Given the description of an element on the screen output the (x, y) to click on. 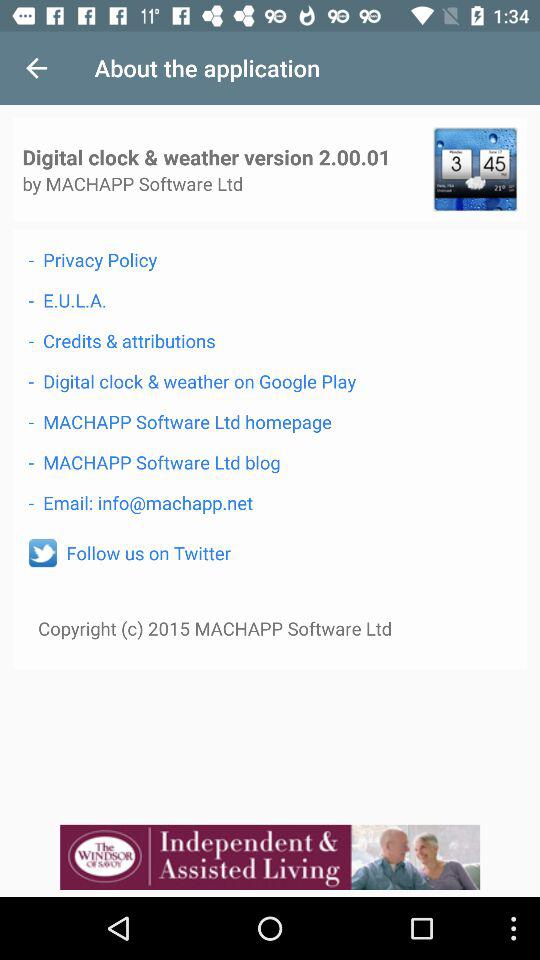
bottom advertisement (270, 857)
